Given the description of an element on the screen output the (x, y) to click on. 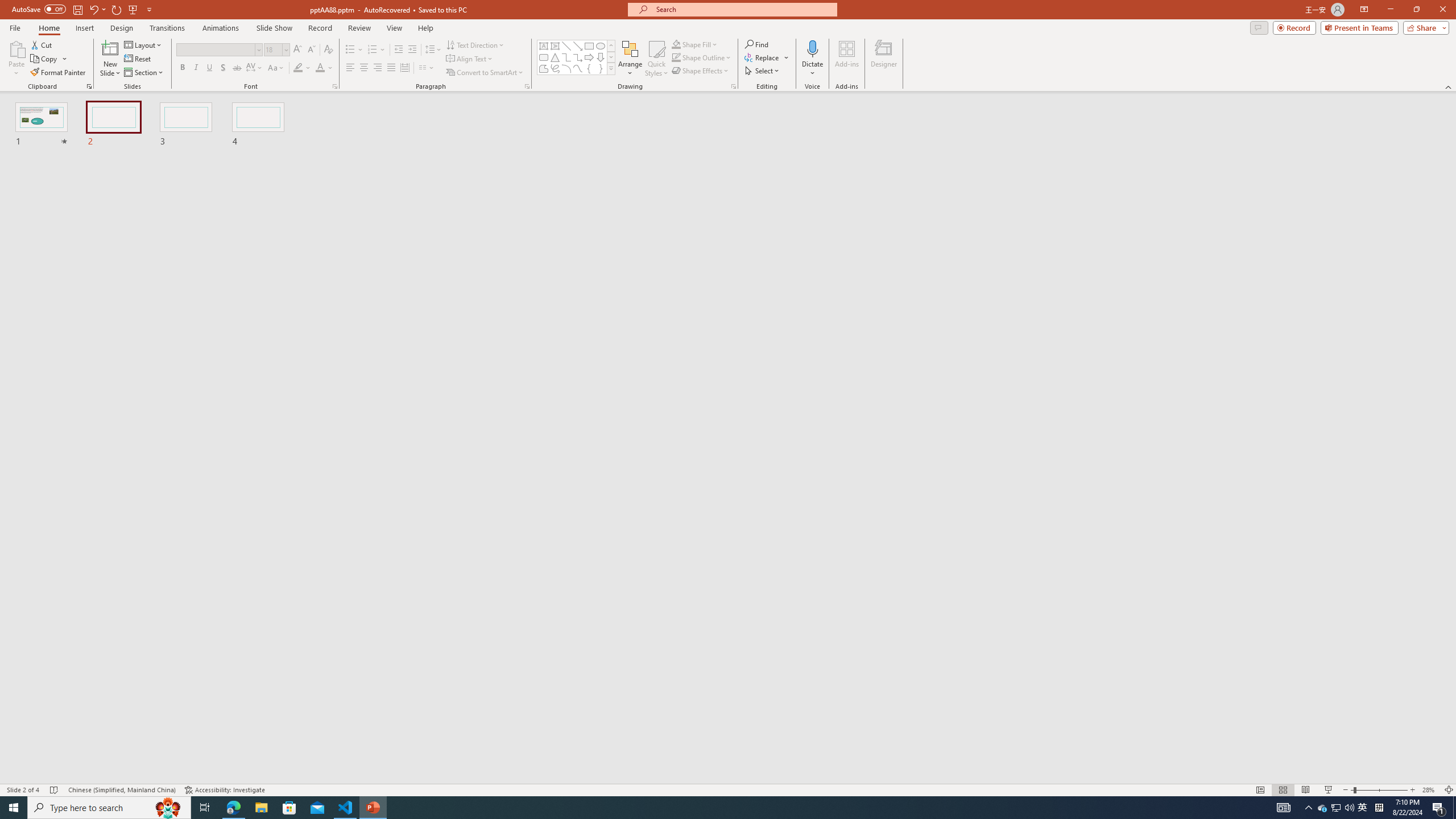
Distributed (404, 67)
Clear Formatting (327, 49)
Italic (195, 67)
Center (363, 67)
Oval (600, 45)
